Given the description of an element on the screen output the (x, y) to click on. 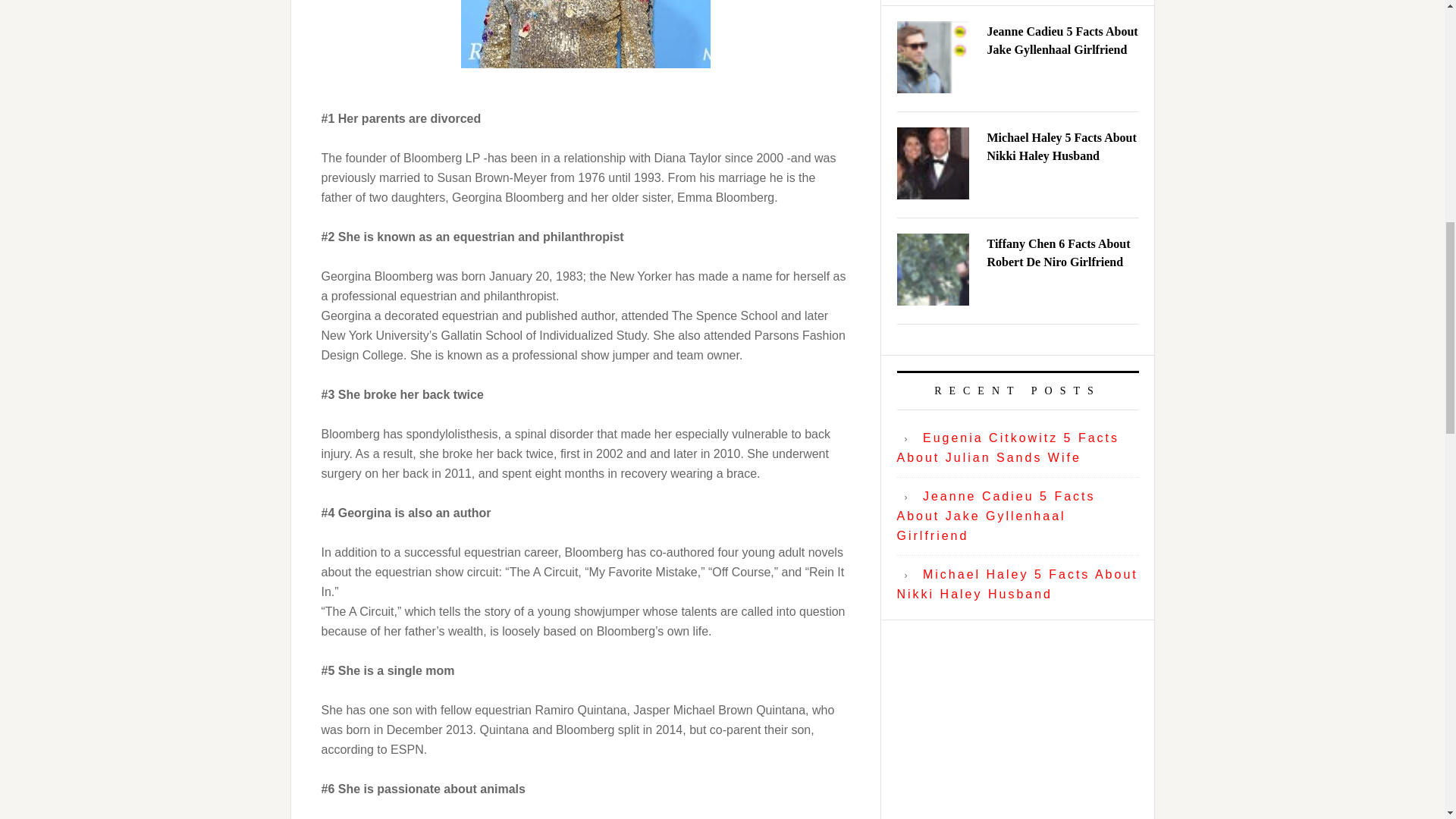
Michael Haley 5 Facts About Nikki Haley Husband (1016, 584)
Jeanne Cadieu 5 Facts About Jake Gyllenhaal Girlfriend (1062, 40)
Tiffany Chen 6 Facts About Robert De Niro Girlfriend (1059, 252)
Eugenia Citkowitz 5 Facts About Julian Sands Wife (1007, 447)
Michael Haley 5 Facts About Nikki Haley Husband (1062, 146)
Jeanne Cadieu 5 Facts About Jake Gyllenhaal Girlfriend (995, 515)
